Given the description of an element on the screen output the (x, y) to click on. 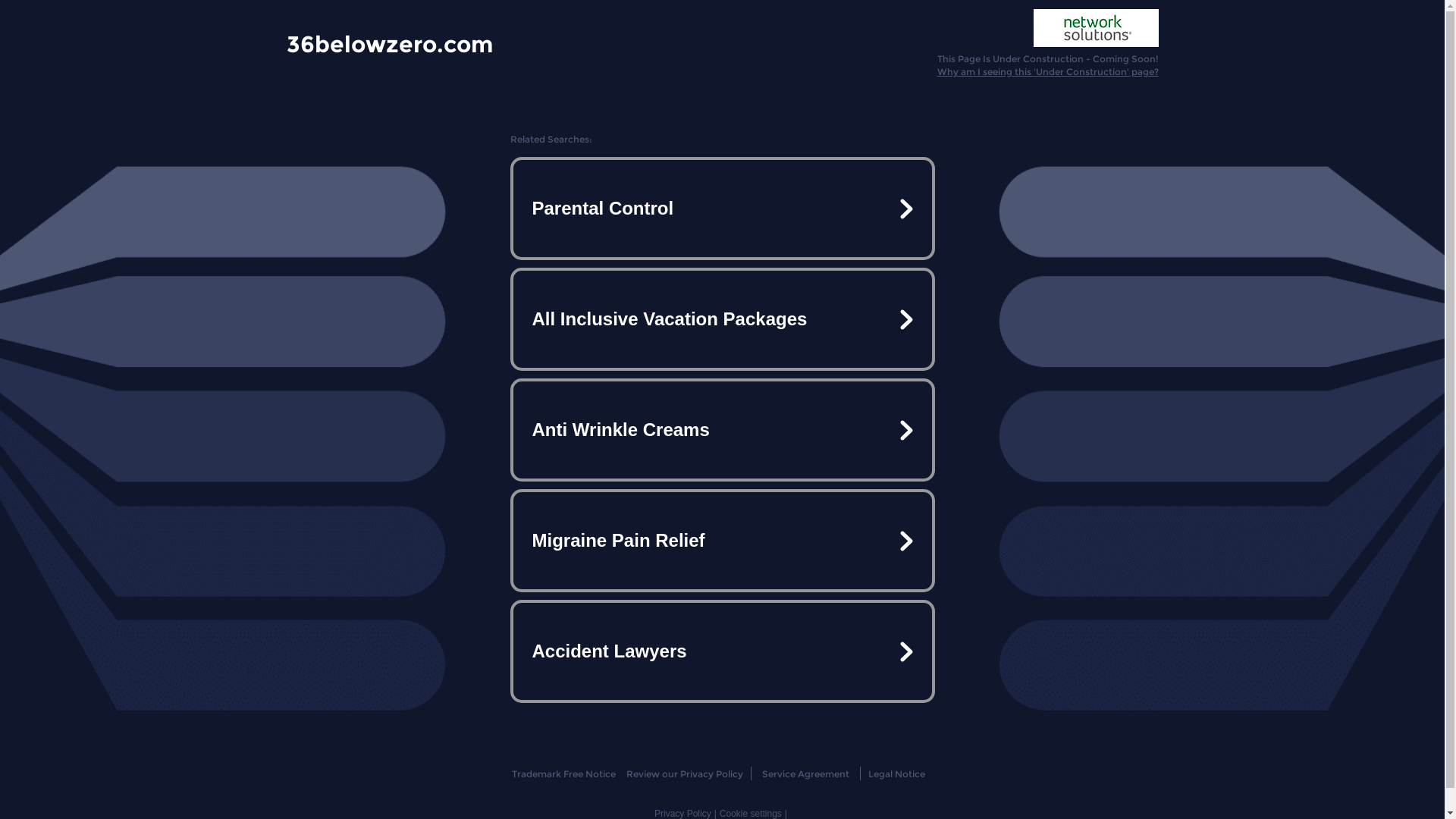
Parental Control Element type: text (721, 208)
Review our Privacy Policy Element type: text (684, 773)
36belowzero.com Element type: text (389, 43)
Why am I seeing this 'Under Construction' page? Element type: text (1047, 71)
Legal Notice Element type: text (896, 773)
Accident Lawyers Element type: text (721, 650)
Trademark Free Notice Element type: text (563, 773)
Anti Wrinkle Creams Element type: text (721, 429)
Service Agreement Element type: text (805, 773)
Migraine Pain Relief Element type: text (721, 540)
All Inclusive Vacation Packages Element type: text (721, 318)
